Given the description of an element on the screen output the (x, y) to click on. 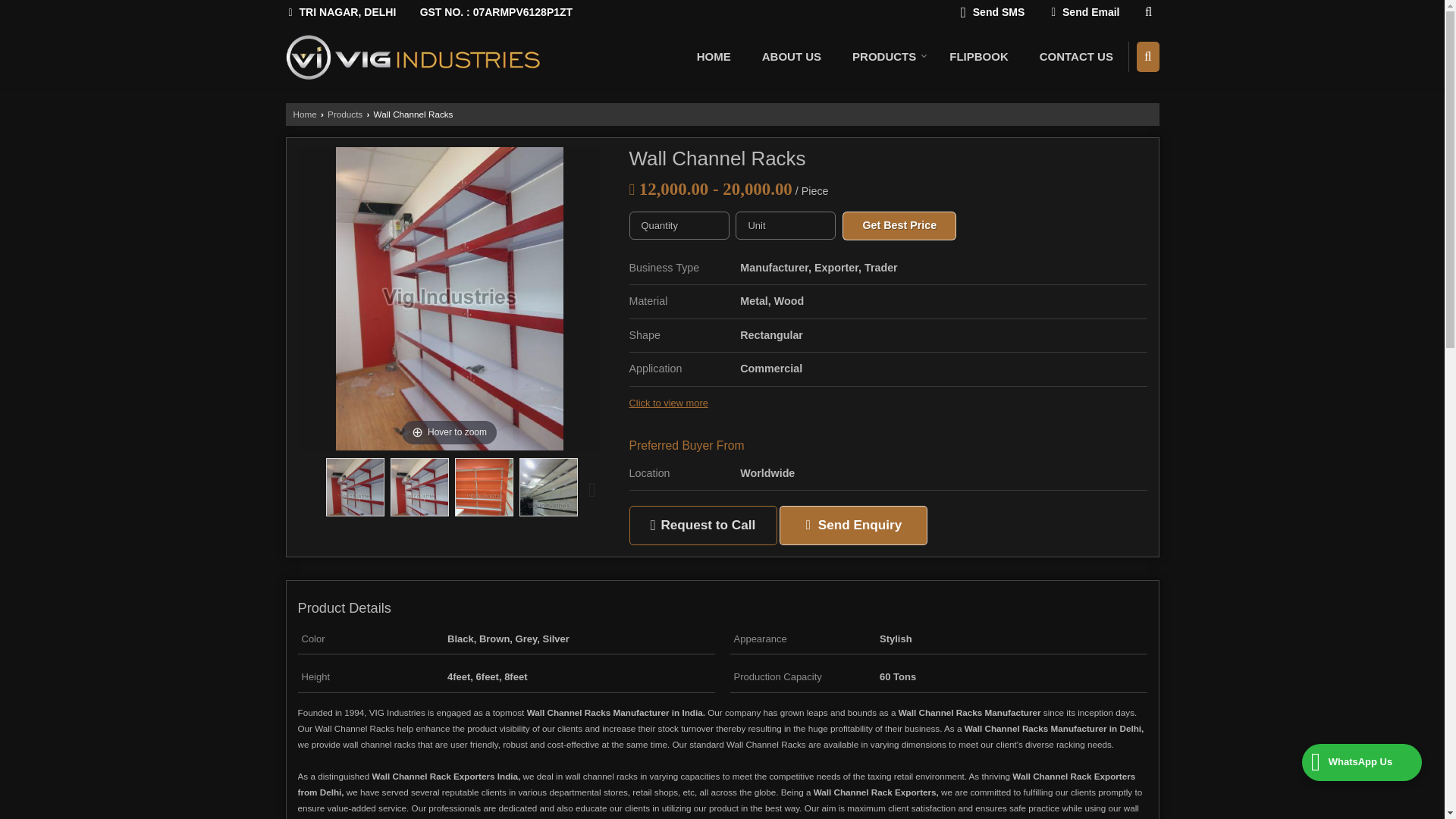
Products (344, 113)
Home (713, 56)
Send Email (1085, 13)
ABOUT US (790, 56)
Vig Industries (412, 57)
Home (303, 113)
About Us (790, 56)
Send SMS (992, 13)
PRODUCTS (885, 56)
FLIPBOOK (978, 56)
CONTACT US (1076, 56)
Products (885, 56)
Vig Industries (412, 57)
HOME (713, 56)
